Given the description of an element on the screen output the (x, y) to click on. 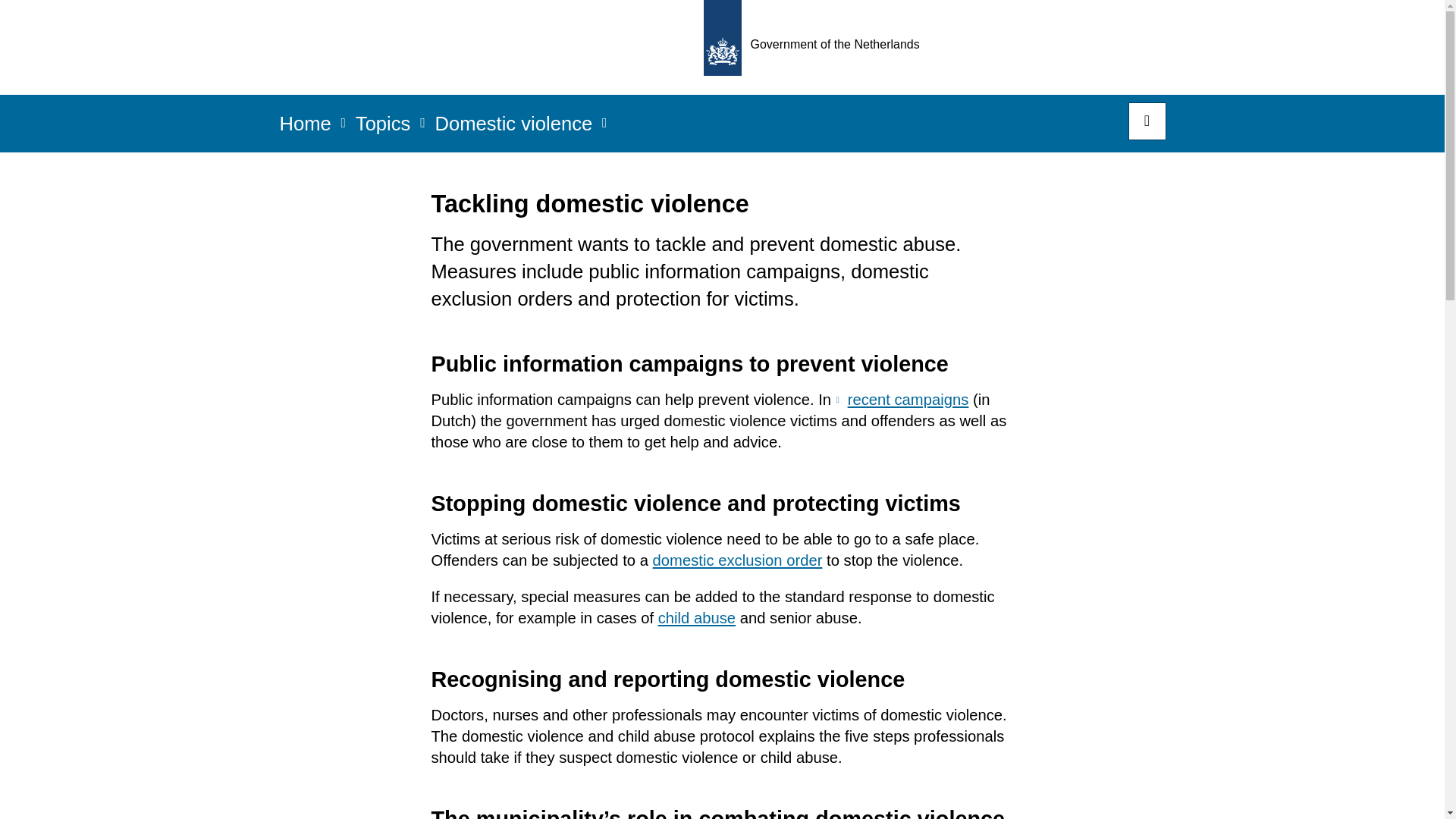
Government of the Netherlands (815, 47)
Start search (1146, 121)
recent campaigns (902, 399)
Topics (382, 128)
Send (29, 21)
Domestic violence (512, 128)
Home (304, 128)
domestic exclusion order (737, 560)
Search (1146, 121)
child abuse (696, 617)
